Given the description of an element on the screen output the (x, y) to click on. 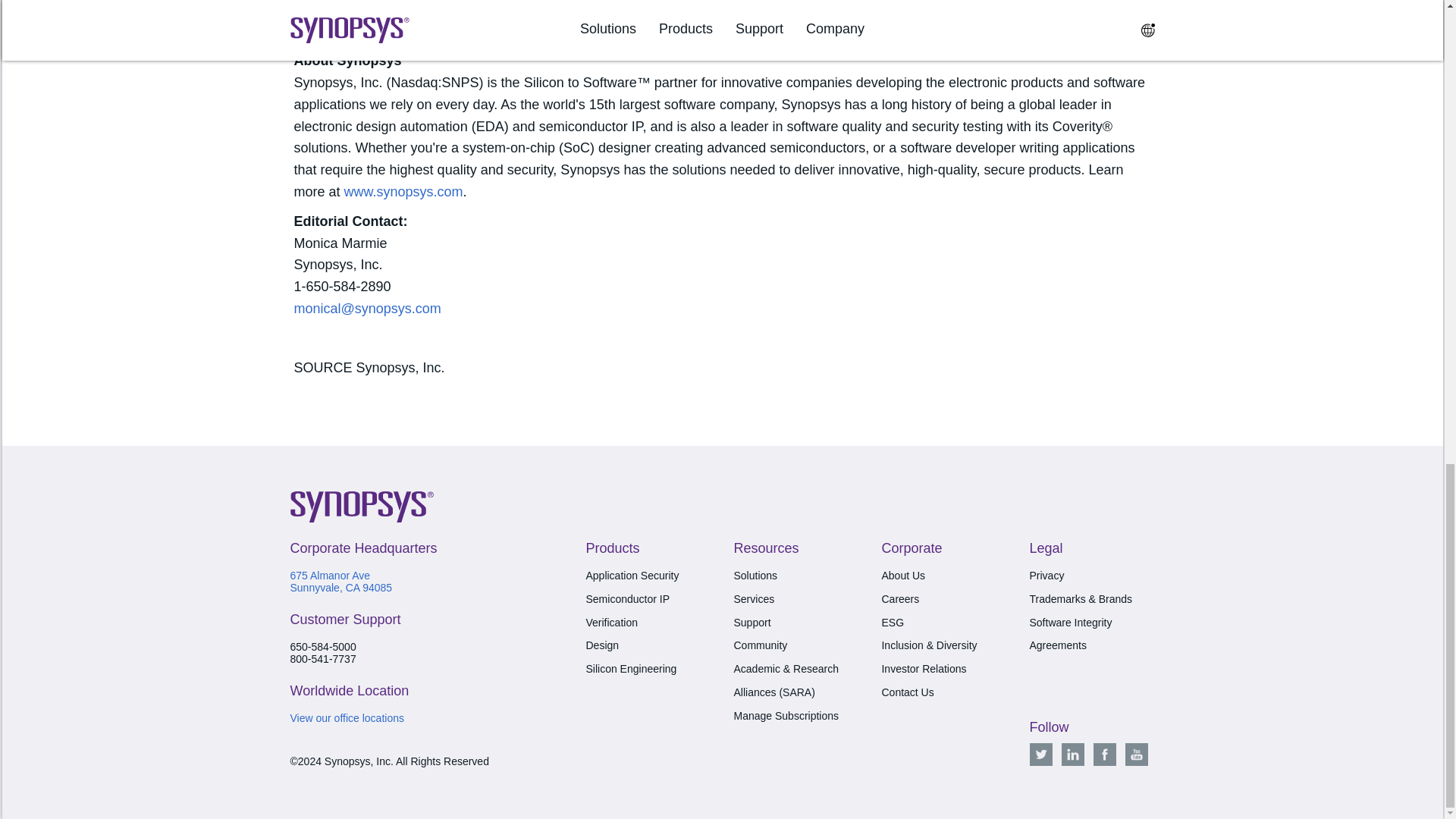
Facebook (1104, 753)
Twitter (1040, 753)
Linkedin (1072, 753)
